Given the description of an element on the screen output the (x, y) to click on. 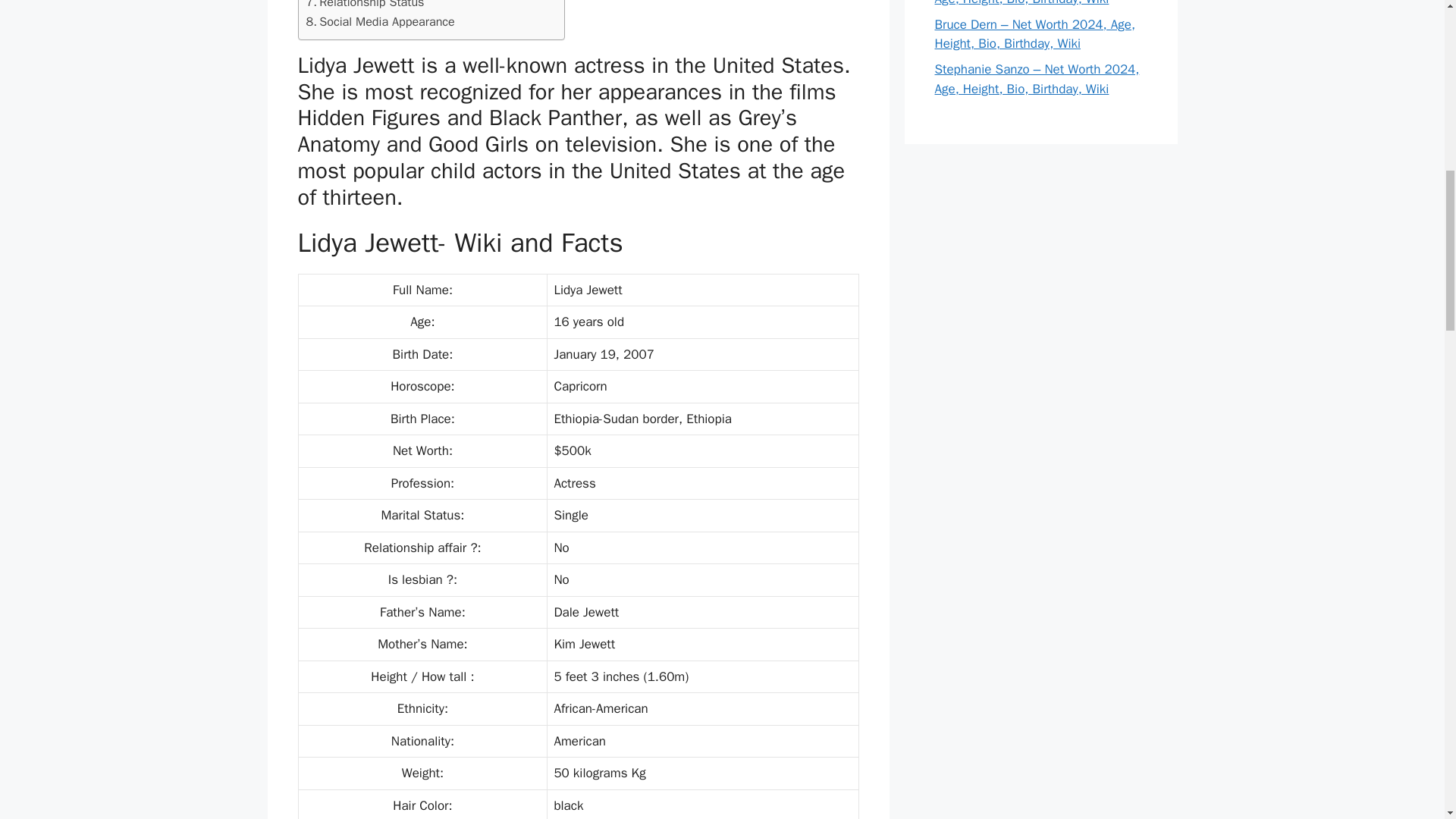
Social Media Appearance (379, 21)
Social Media Appearance (379, 21)
Relationship Status (365, 6)
Relationship Status (365, 6)
